Given the description of an element on the screen output the (x, y) to click on. 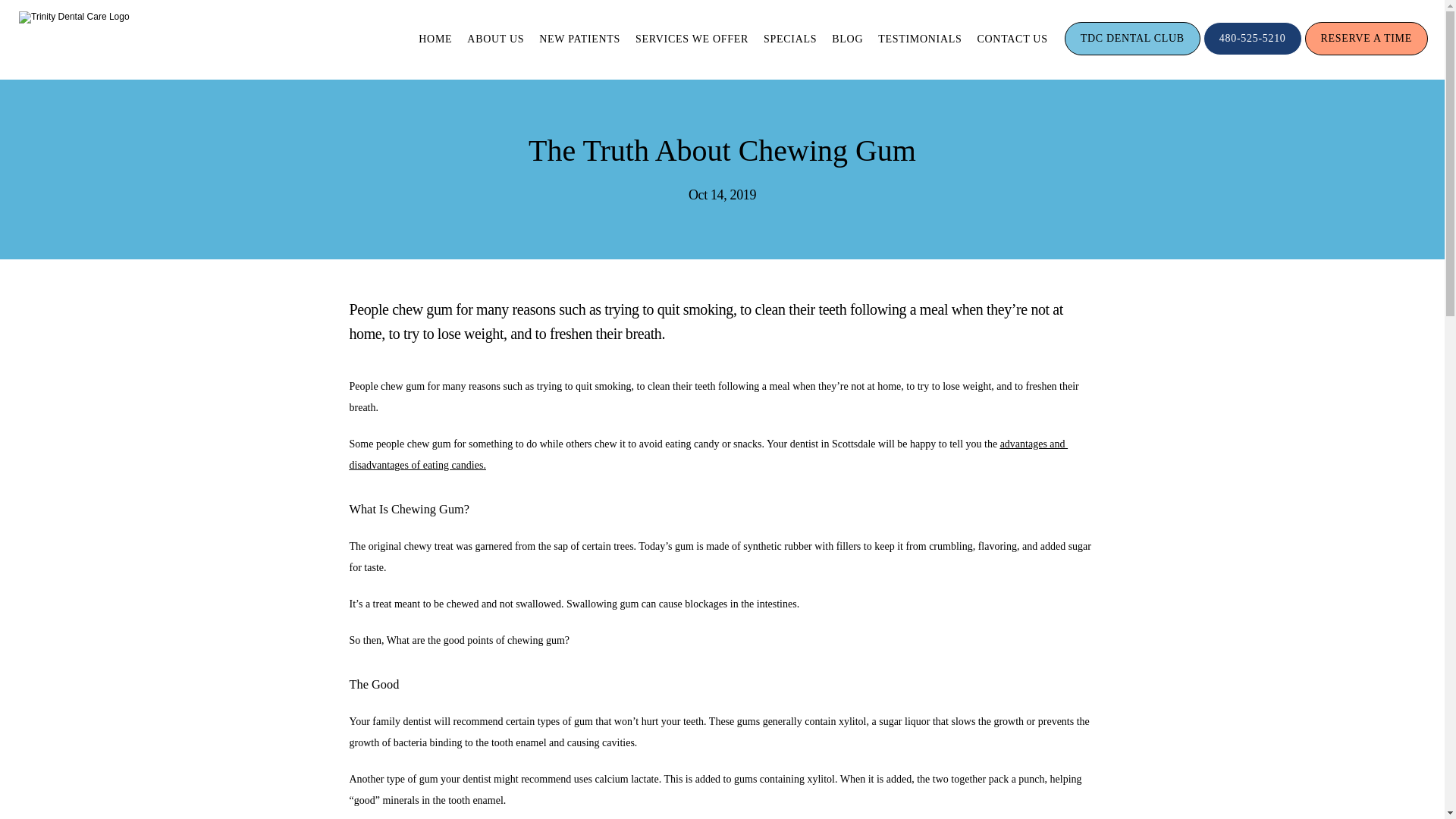
advantages and disadvantages of eating candies. (708, 454)
RESERVE A TIME (1366, 53)
HOME (435, 39)
SERVICES WE OFFER (691, 39)
CONTACT US (1011, 39)
TESTIMONIALS (918, 39)
BLOG (847, 39)
SPECIALS (789, 39)
480-525-5210 (1252, 53)
NEW PATIENTS (579, 39)
